Given the description of an element on the screen output the (x, y) to click on. 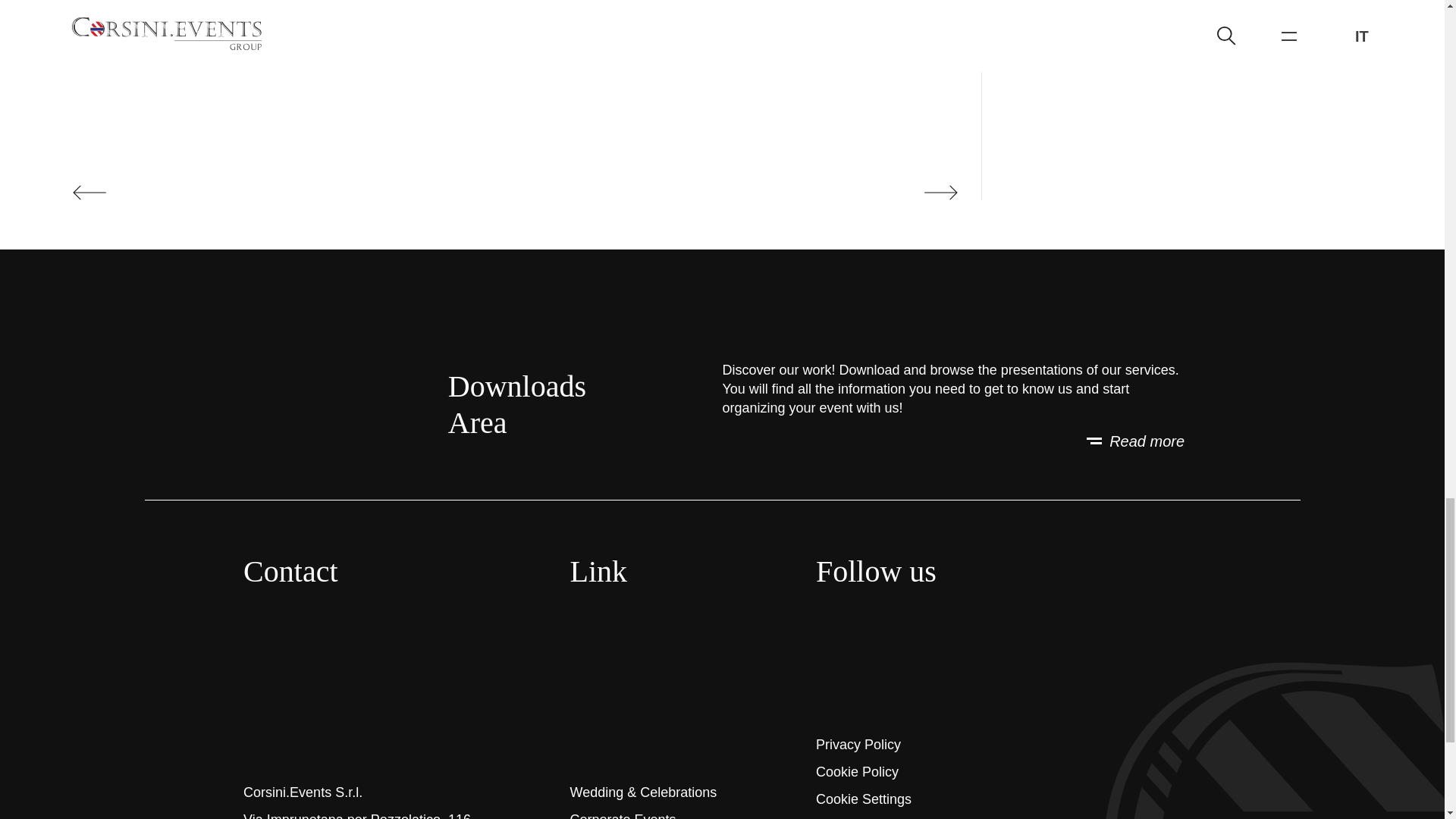
Cookie Policy (856, 771)
Privacy Policy (858, 744)
